Given the description of an element on the screen output the (x, y) to click on. 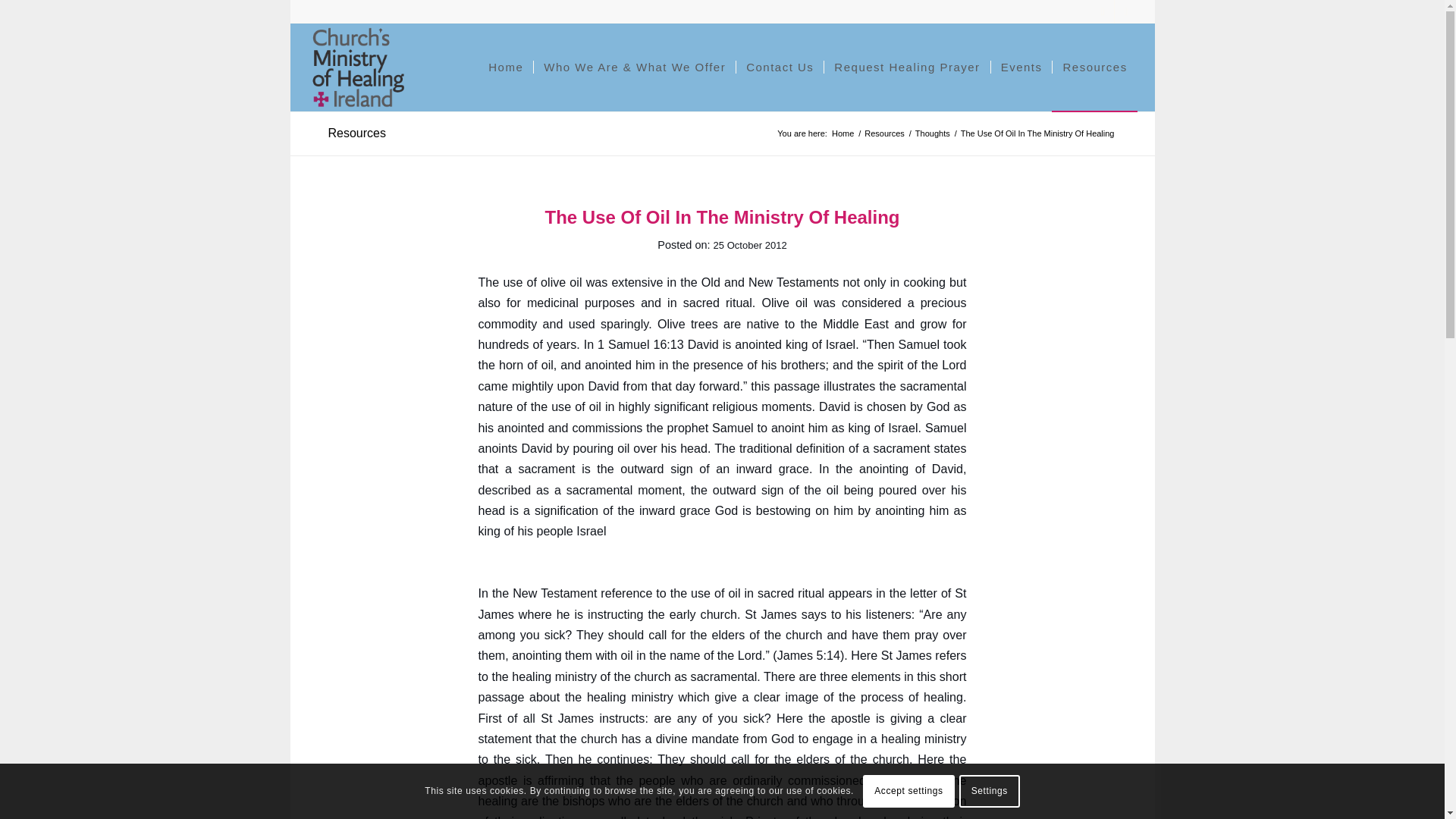
Home (842, 133)
Contact Us (779, 67)
The Church's Ministry of Healing (842, 133)
Permanent Link: Resources (356, 132)
Resources (356, 132)
